Given the description of an element on the screen output the (x, y) to click on. 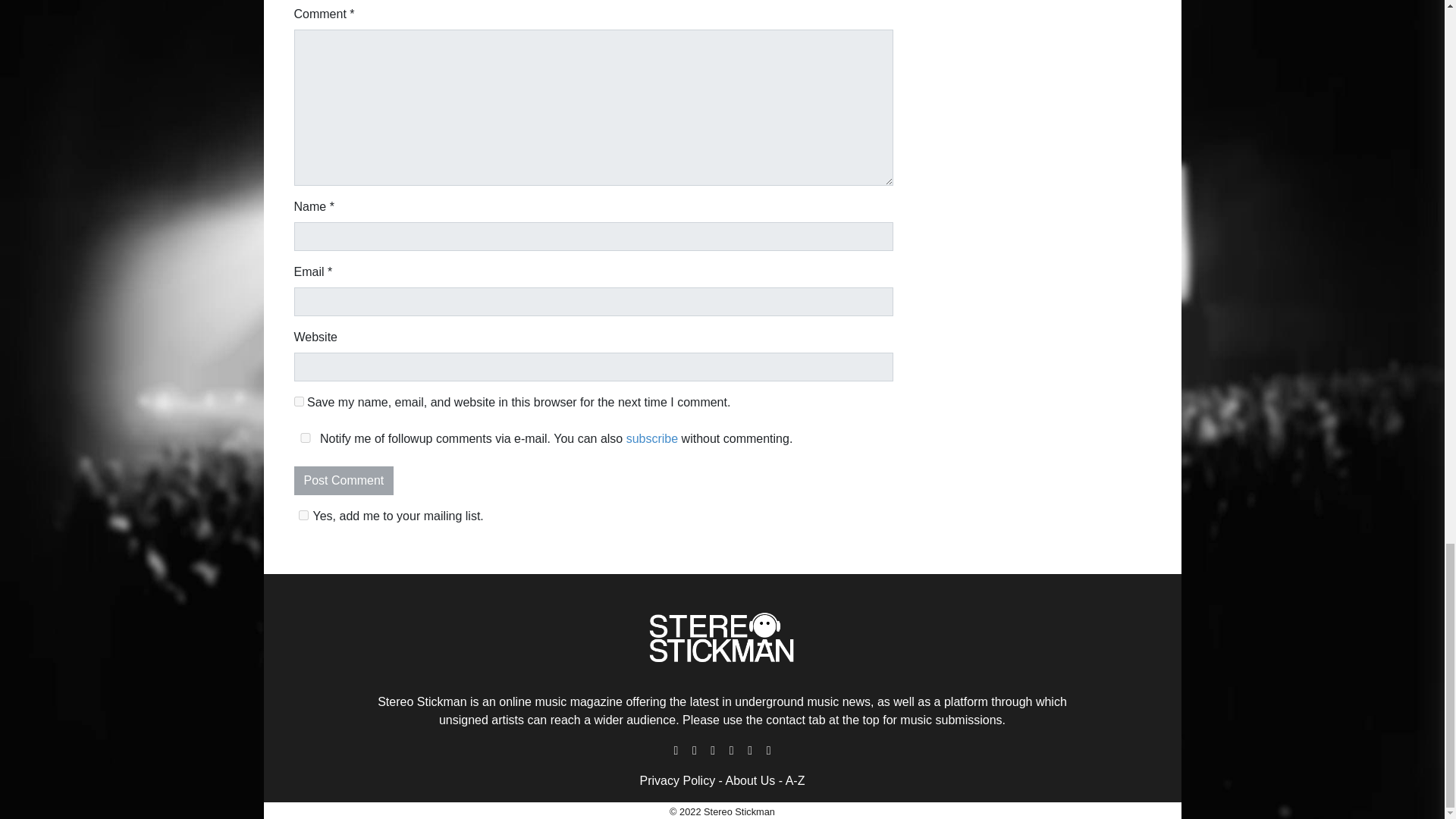
yes (299, 401)
subscribe (652, 438)
1 (303, 515)
Post Comment (344, 480)
yes (305, 438)
Post Comment (344, 480)
